Given the description of an element on the screen output the (x, y) to click on. 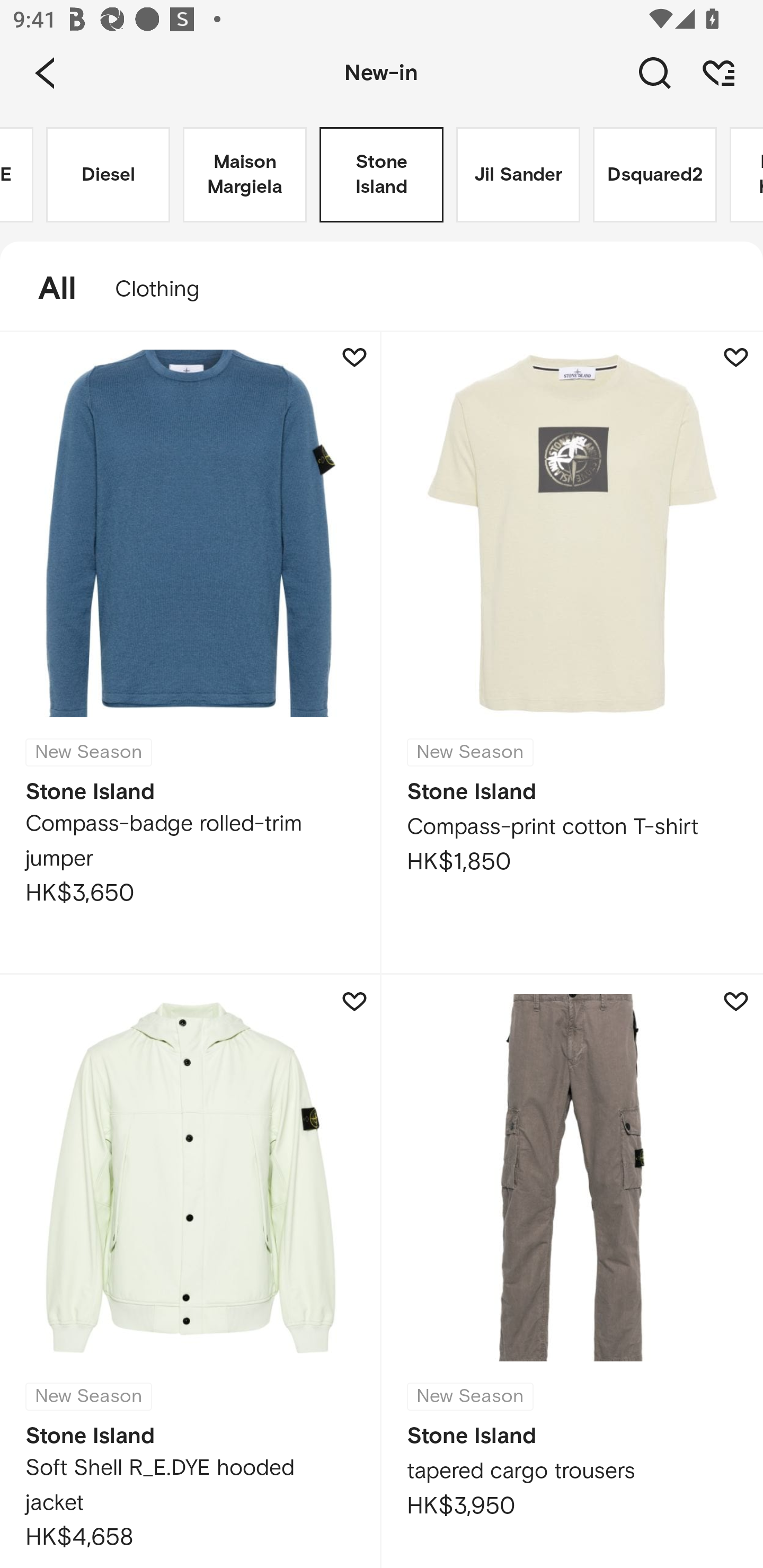
Diesel (107, 174)
Maison Margiela (244, 174)
Stone Island (381, 174)
Jil Sander (517, 174)
Dsquared2 (654, 174)
All (47, 288)
Clothing (166, 288)
